Given the description of an element on the screen output the (x, y) to click on. 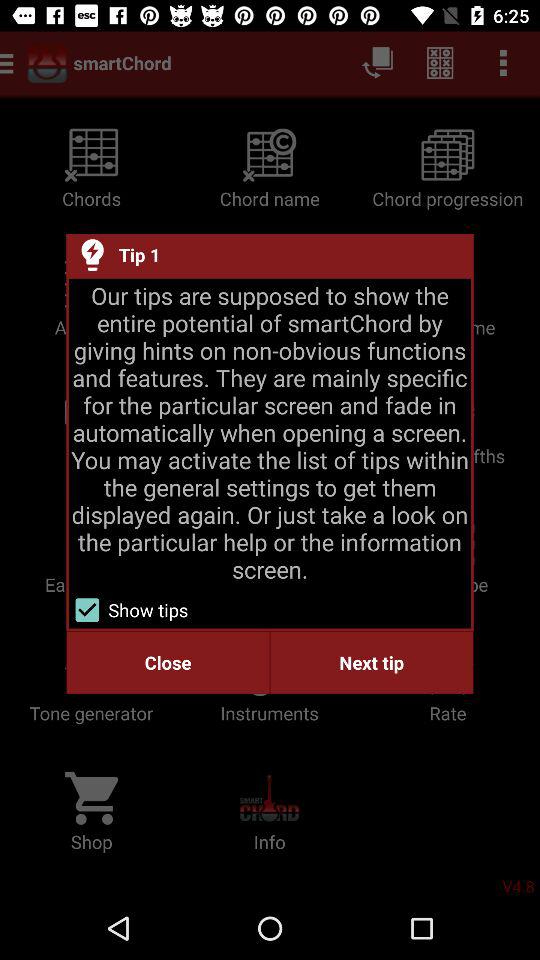
turn on item to the right of close icon (371, 662)
